Given the description of an element on the screen output the (x, y) to click on. 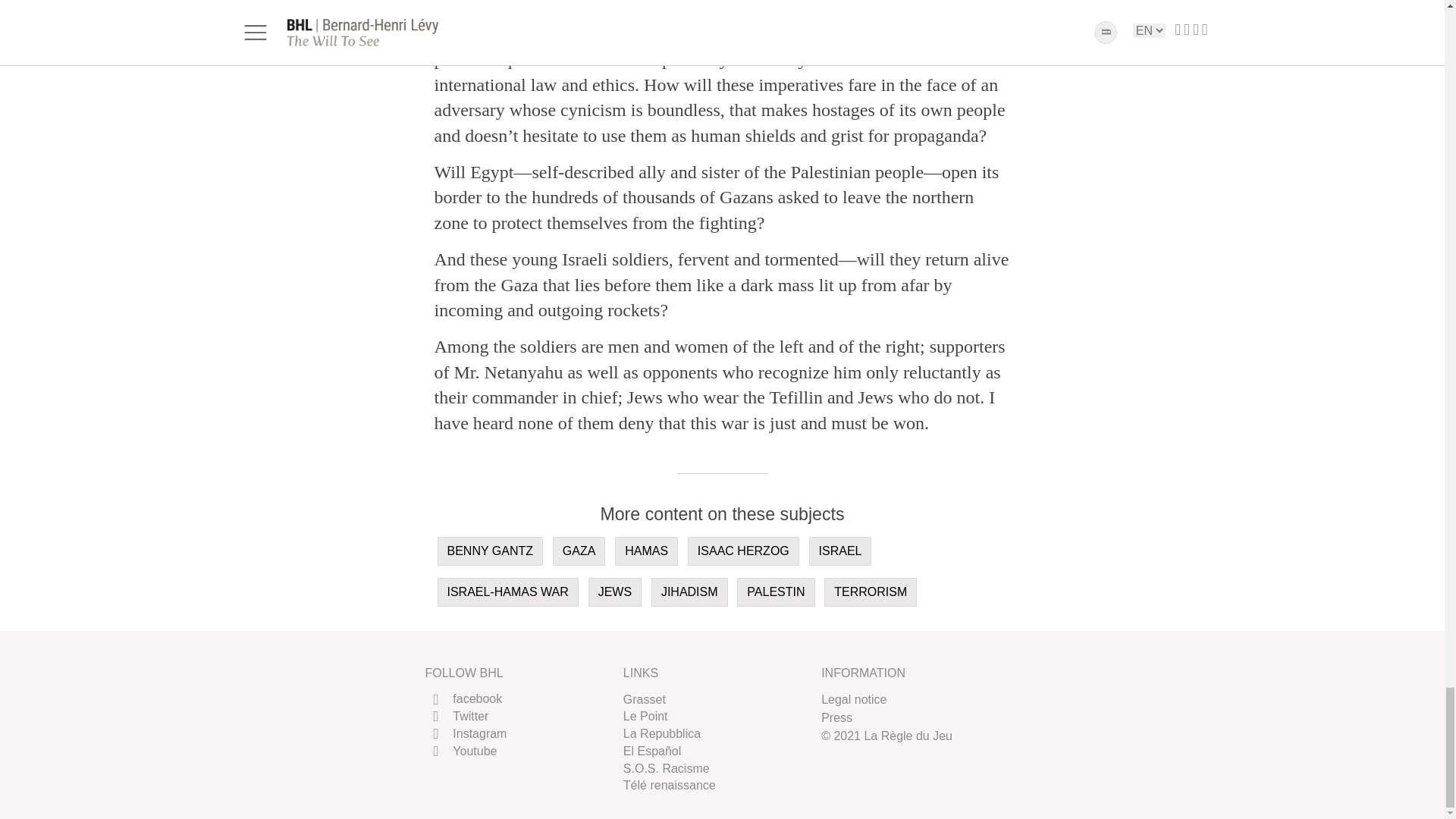
TERRORISM (870, 592)
JEWS (615, 592)
Youtube (460, 750)
BENNY GANTZ (489, 551)
Le Point (645, 716)
GAZA (579, 551)
La Repubblica (661, 733)
Grasset (644, 698)
facebook (463, 698)
ISRAEL-HAMAS WAR (507, 592)
JIHADISM (689, 592)
ISRAEL (840, 551)
HAMAS (646, 551)
Twitter (456, 716)
ISAAC HERZOG (743, 551)
